Given the description of an element on the screen output the (x, y) to click on. 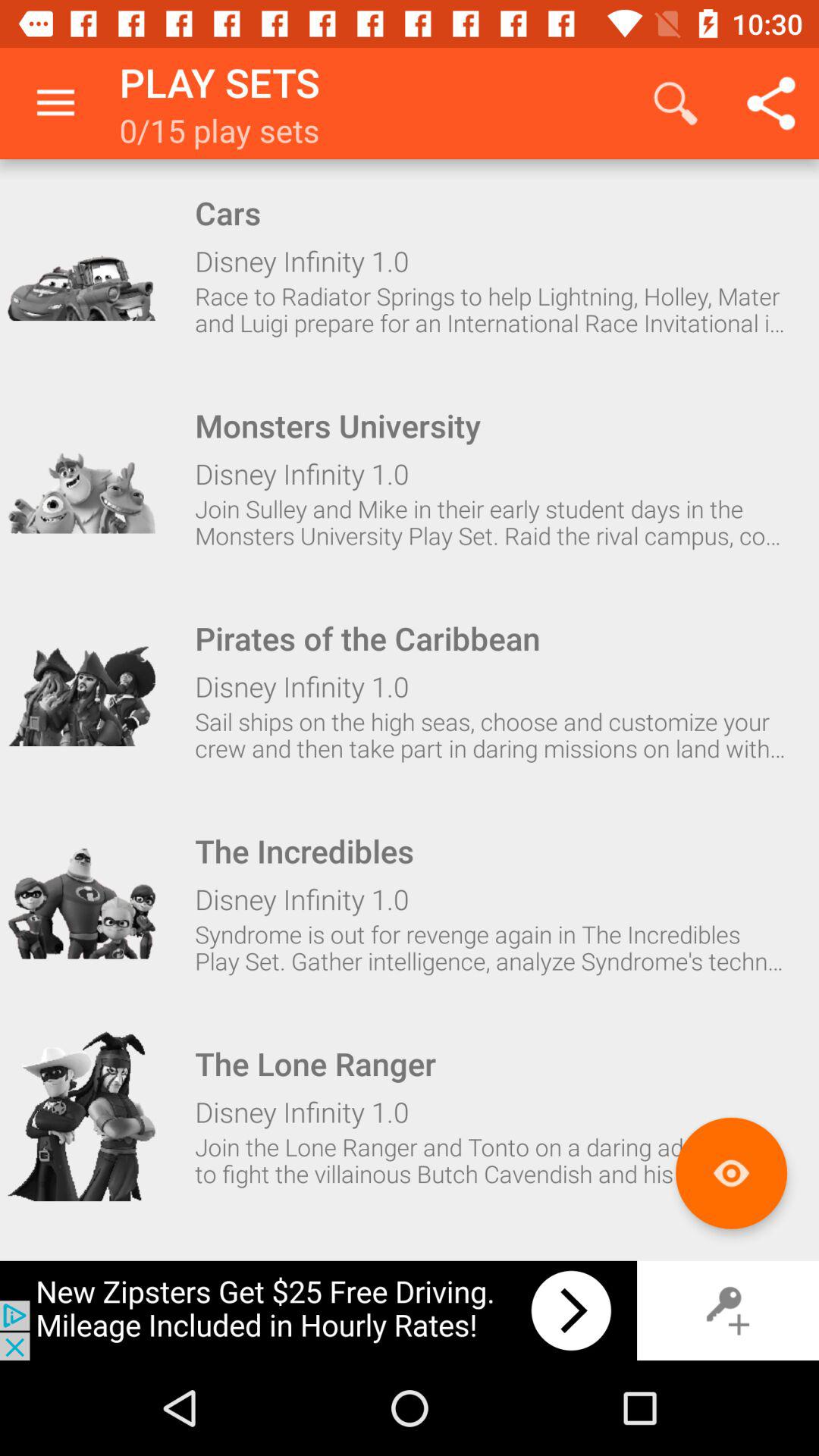
select this item (81, 265)
